Given the description of an element on the screen output the (x, y) to click on. 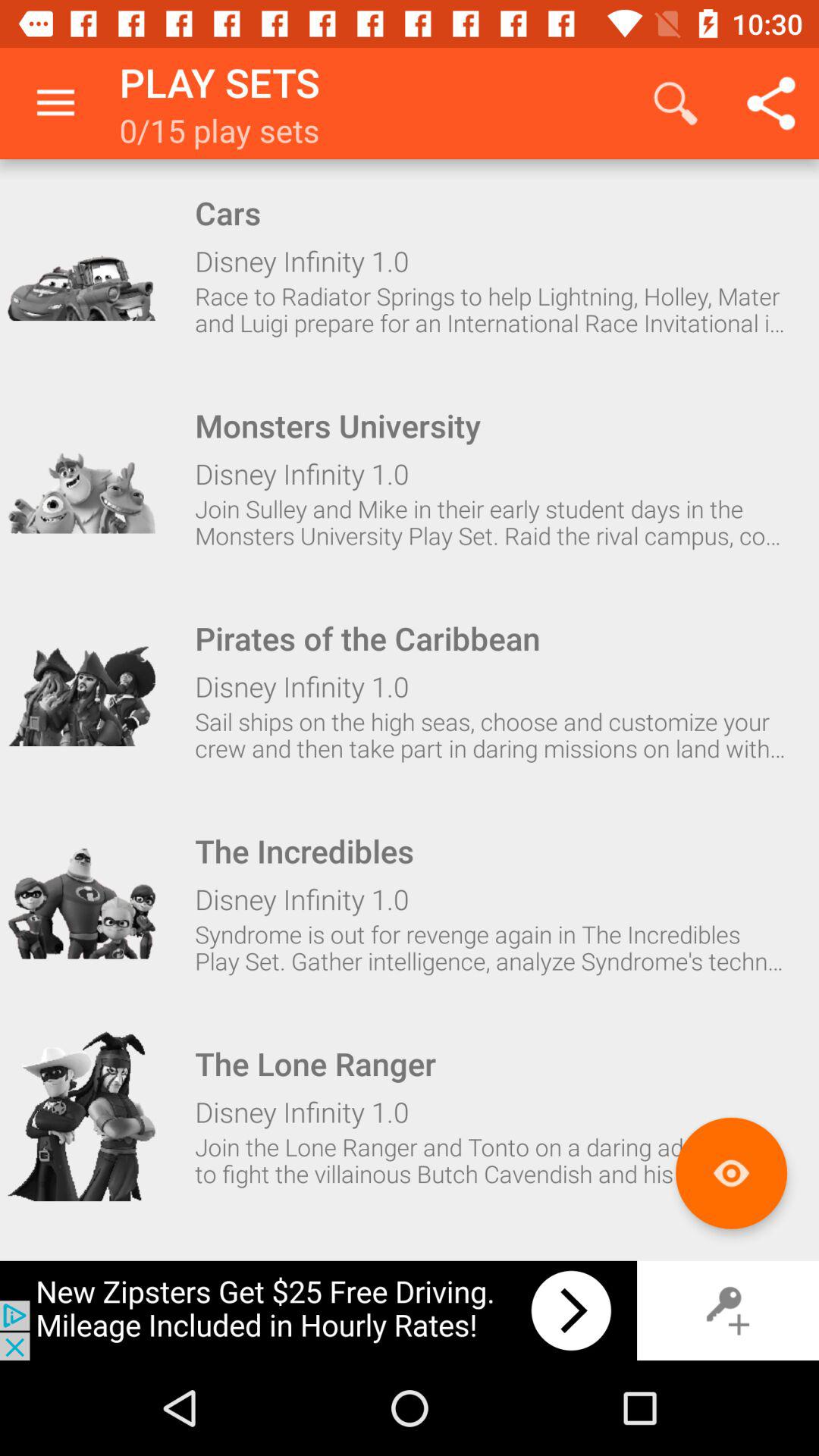
select this item (81, 265)
